Given the description of an element on the screen output the (x, y) to click on. 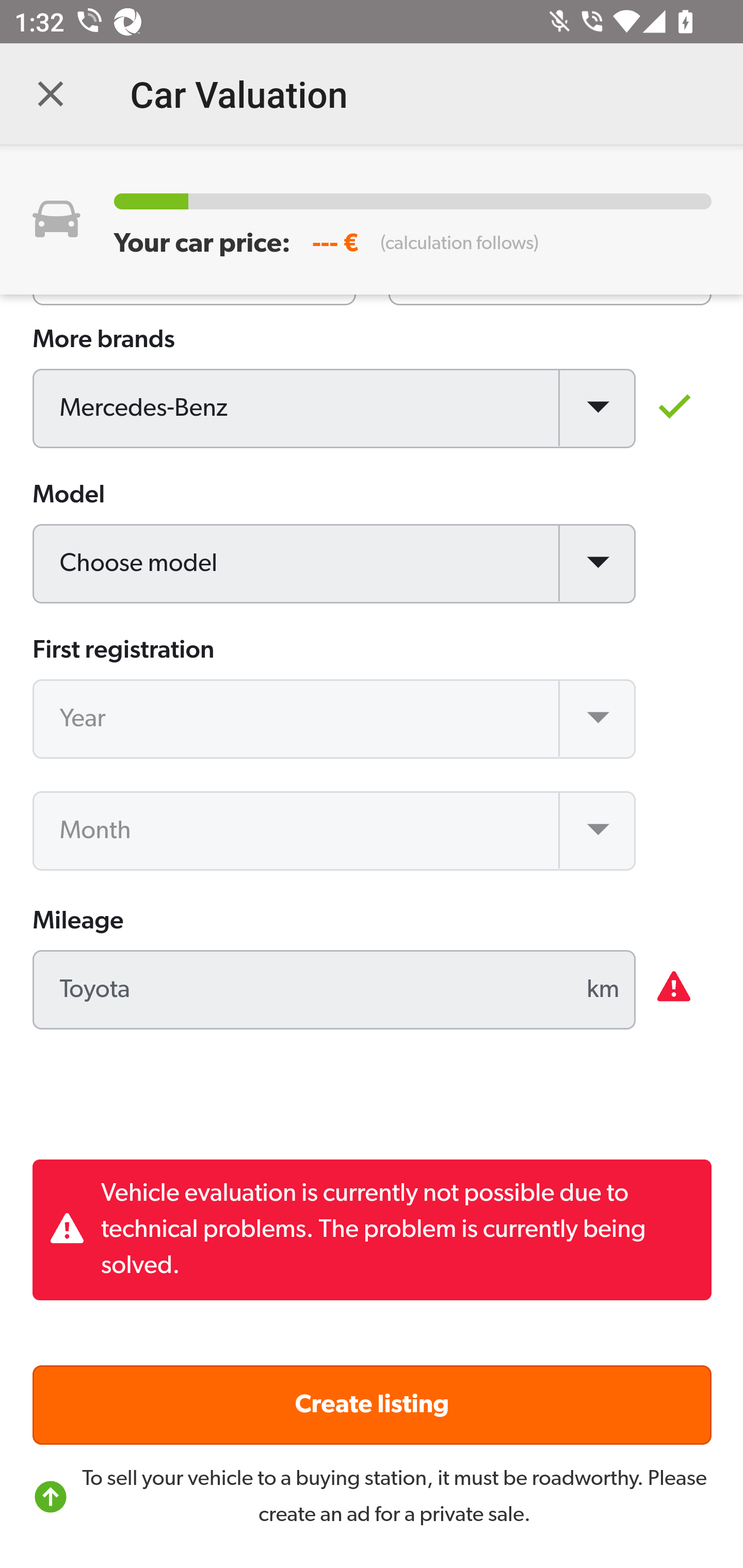
Navigate up (50, 93)
Mercedes-Benz (334, 409)
Choose model (334, 564)
Year (334, 720)
Month (334, 831)
Toyota (334, 991)
Create listing (372, 1405)
